Given the description of an element on the screen output the (x, y) to click on. 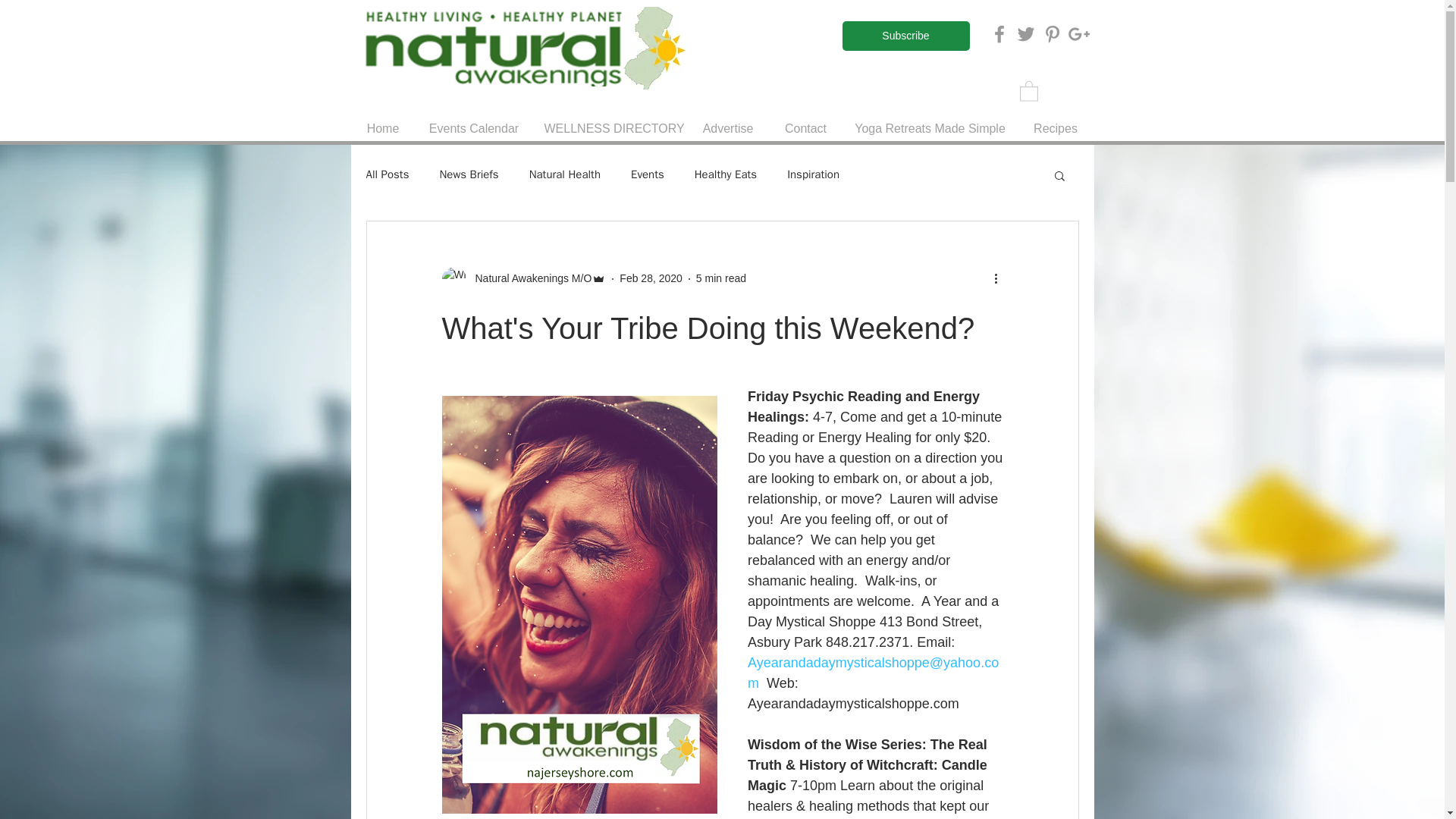
5 min read (720, 277)
Subscribe (905, 35)
WELLNESS DIRECTORY (608, 128)
Advertise (728, 128)
All Posts (387, 174)
Contact (804, 128)
Recipes (1055, 128)
Yoga Retreats Made Simple (929, 128)
Events Calendar (473, 128)
Inspiration (813, 174)
